Given the description of an element on the screen output the (x, y) to click on. 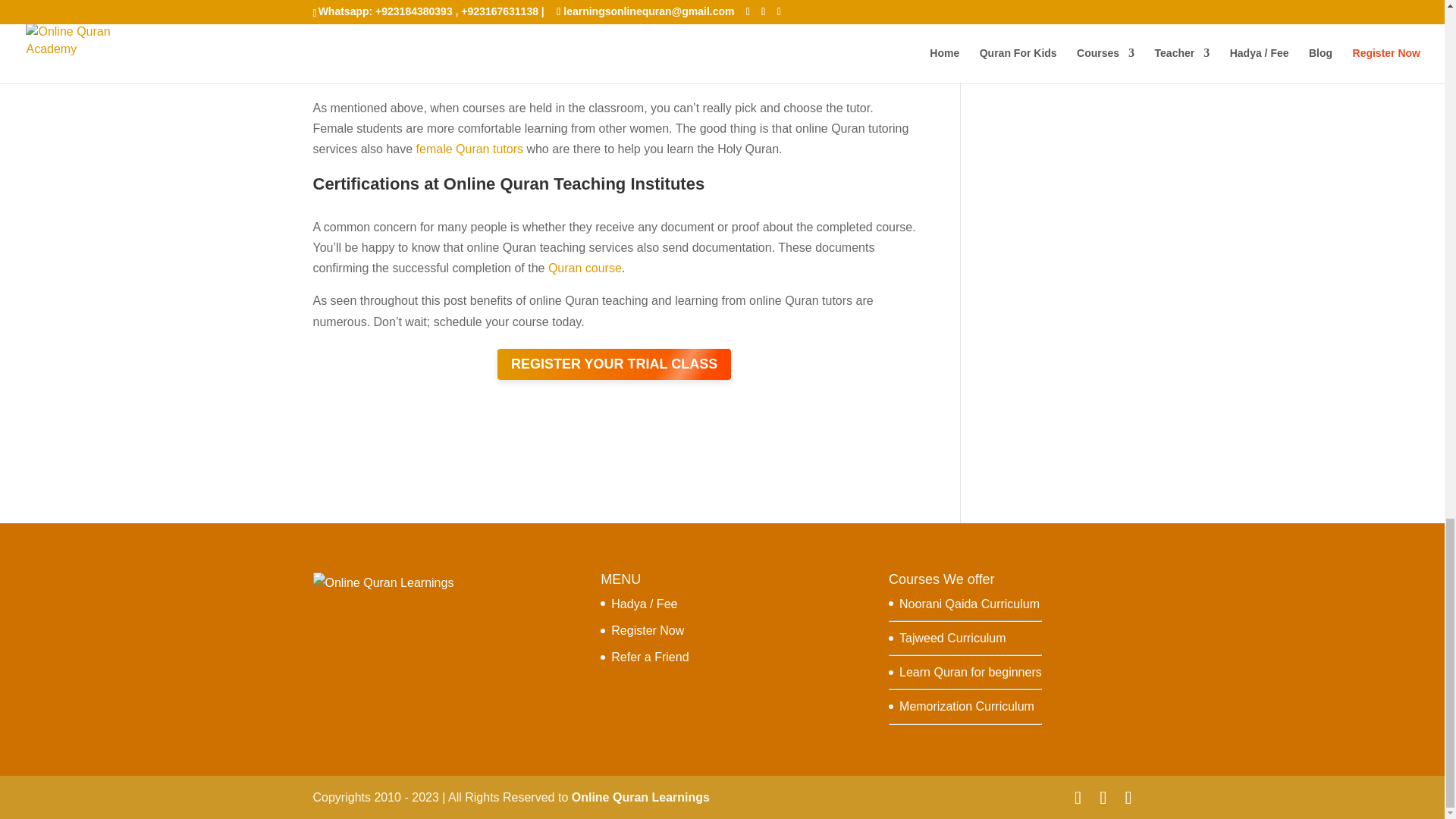
REGISTER YOUR TRIAL CLASS (613, 364)
female Quran tutors (469, 148)
Quran course (584, 267)
